Given the description of an element on the screen output the (x, y) to click on. 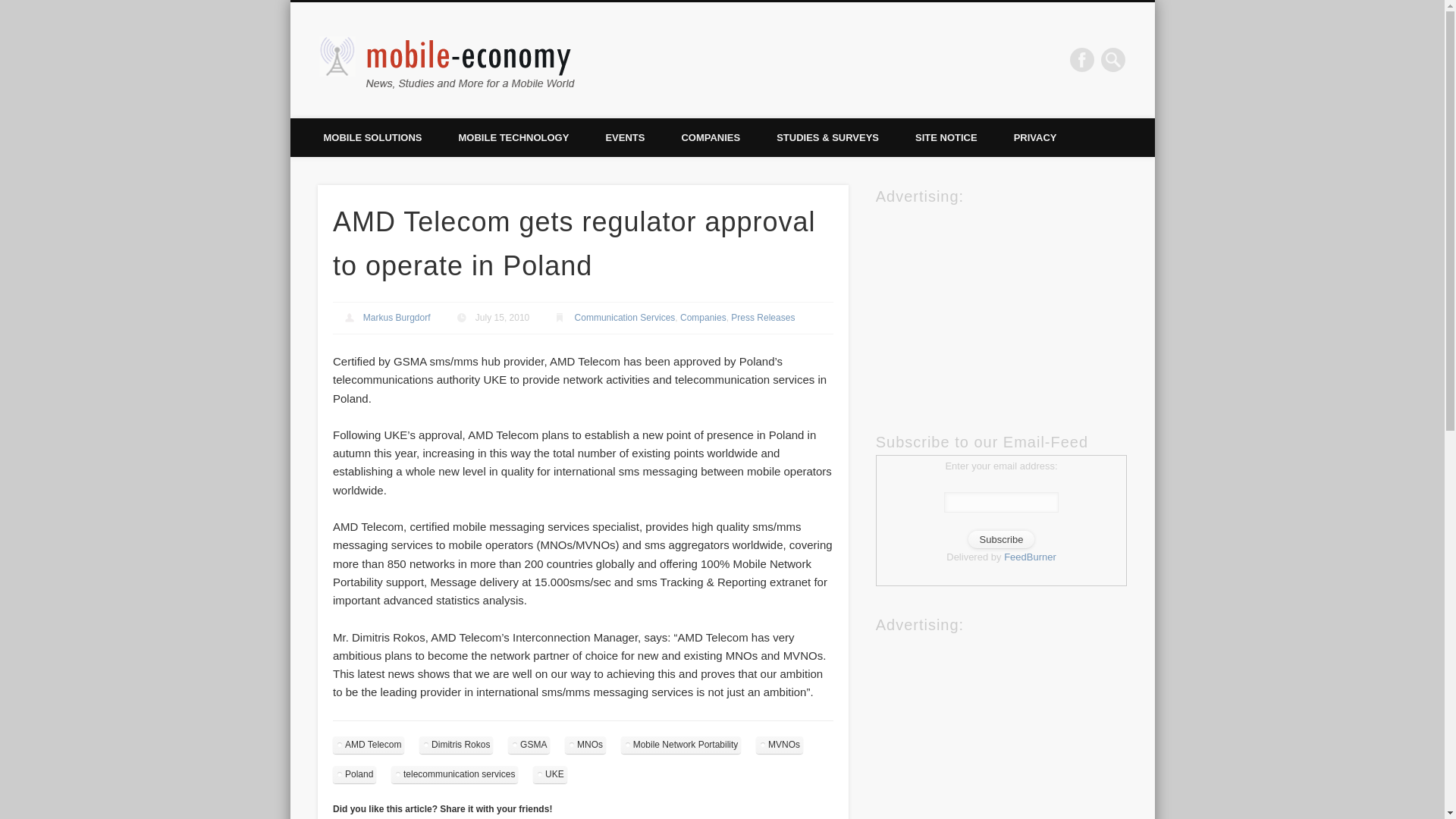
telecommunication services (454, 773)
EVENTS (624, 137)
MVNOs (779, 744)
Dimitris Rokos (456, 744)
Advertisement (989, 303)
SITE NOTICE (945, 137)
Facebook (1082, 59)
Subscribe (1001, 539)
Markus Burgdorf (396, 317)
Mobile Network Portability (681, 744)
Poland (354, 773)
COMPANIES (710, 137)
Posts by Markus Burgdorf (396, 317)
MOBILE TECHNOLOGY (512, 137)
Subscribe (1001, 539)
